Given the description of an element on the screen output the (x, y) to click on. 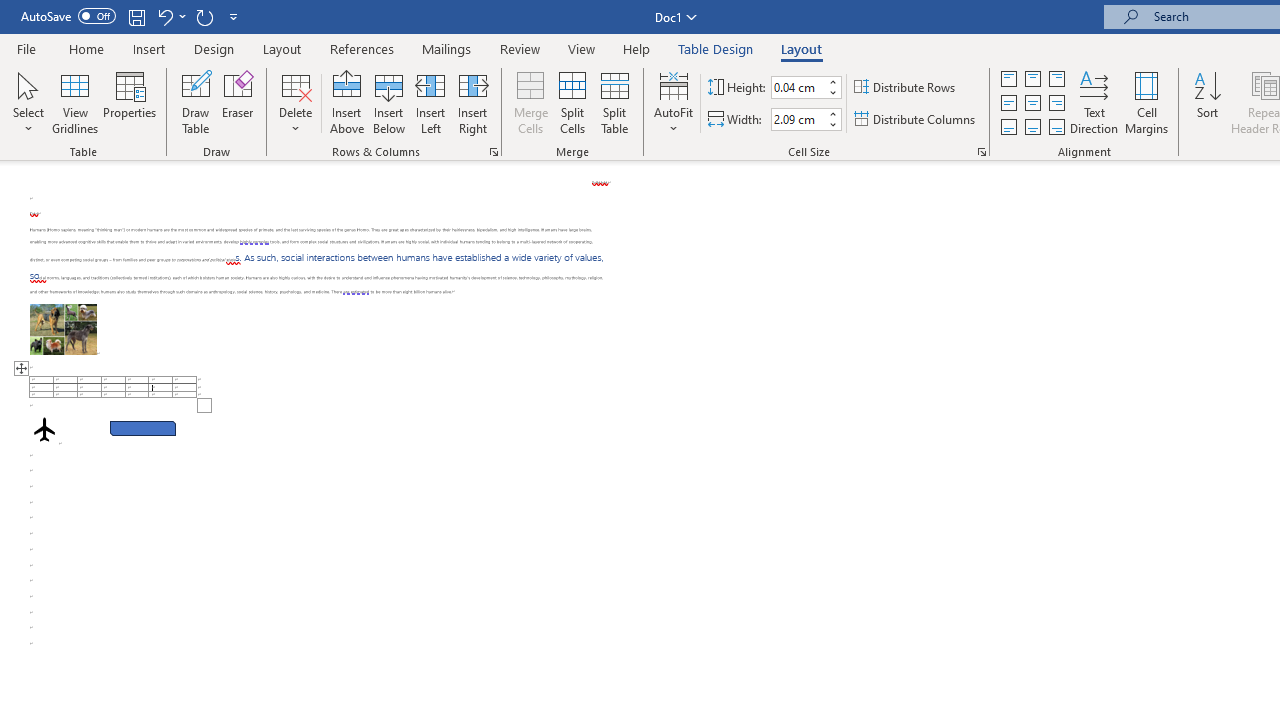
Less (832, 124)
Align Bottom Right (1056, 126)
Home (86, 48)
File Tab (26, 48)
Distribute Columns (916, 119)
Layout (801, 48)
Undo Row Height Spinner (164, 15)
Design (214, 48)
Undo Row Height Spinner (170, 15)
AutoSave (68, 16)
Insert Cells... (493, 151)
Cell Margins... (1146, 102)
Save (136, 15)
